Given the description of an element on the screen output the (x, y) to click on. 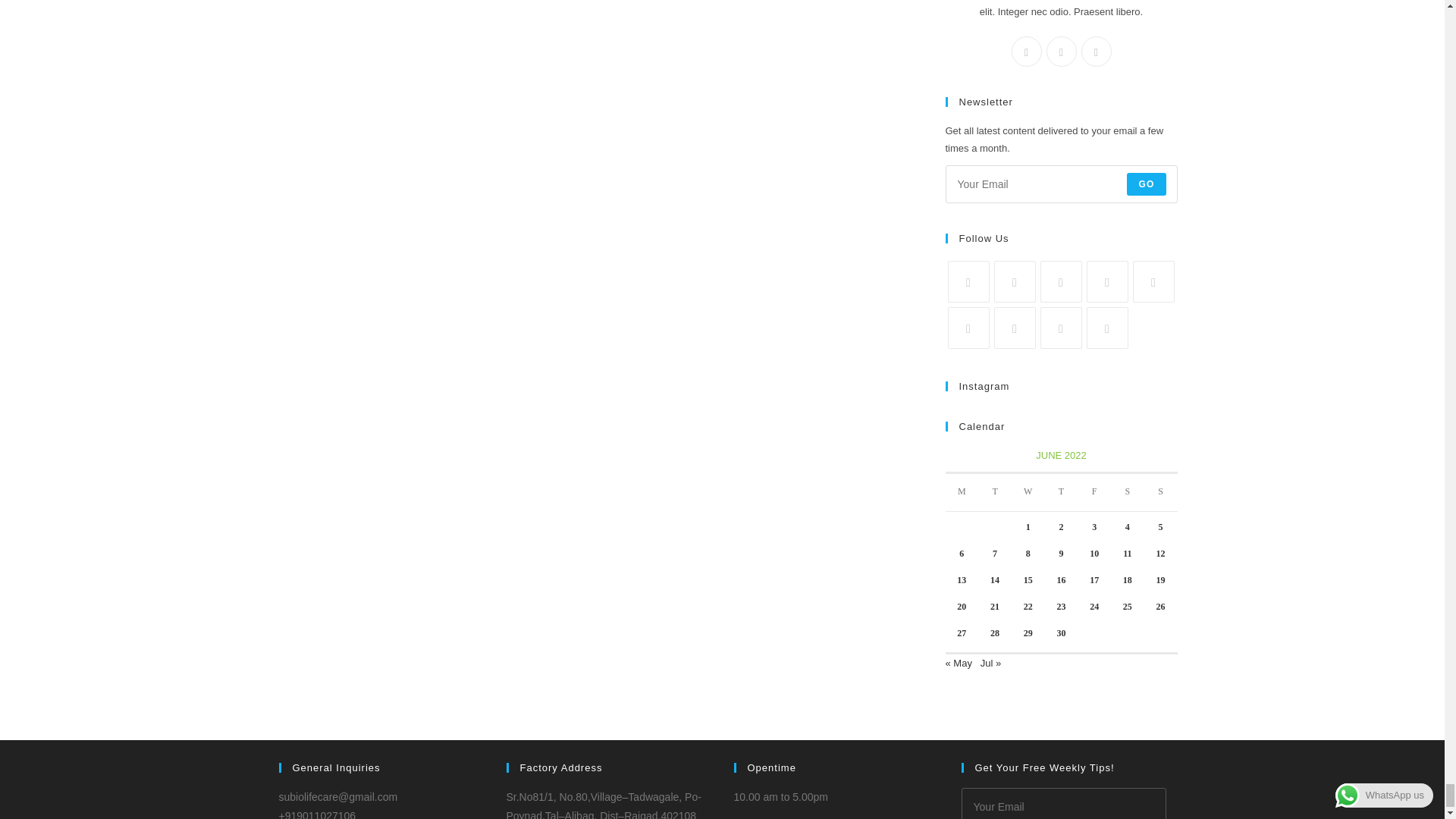
Wednesday (1028, 492)
Thursday (1061, 492)
Friday (1093, 492)
Sunday (1160, 492)
Monday (961, 492)
Tuesday (994, 492)
Saturday (1127, 492)
